Given the description of an element on the screen output the (x, y) to click on. 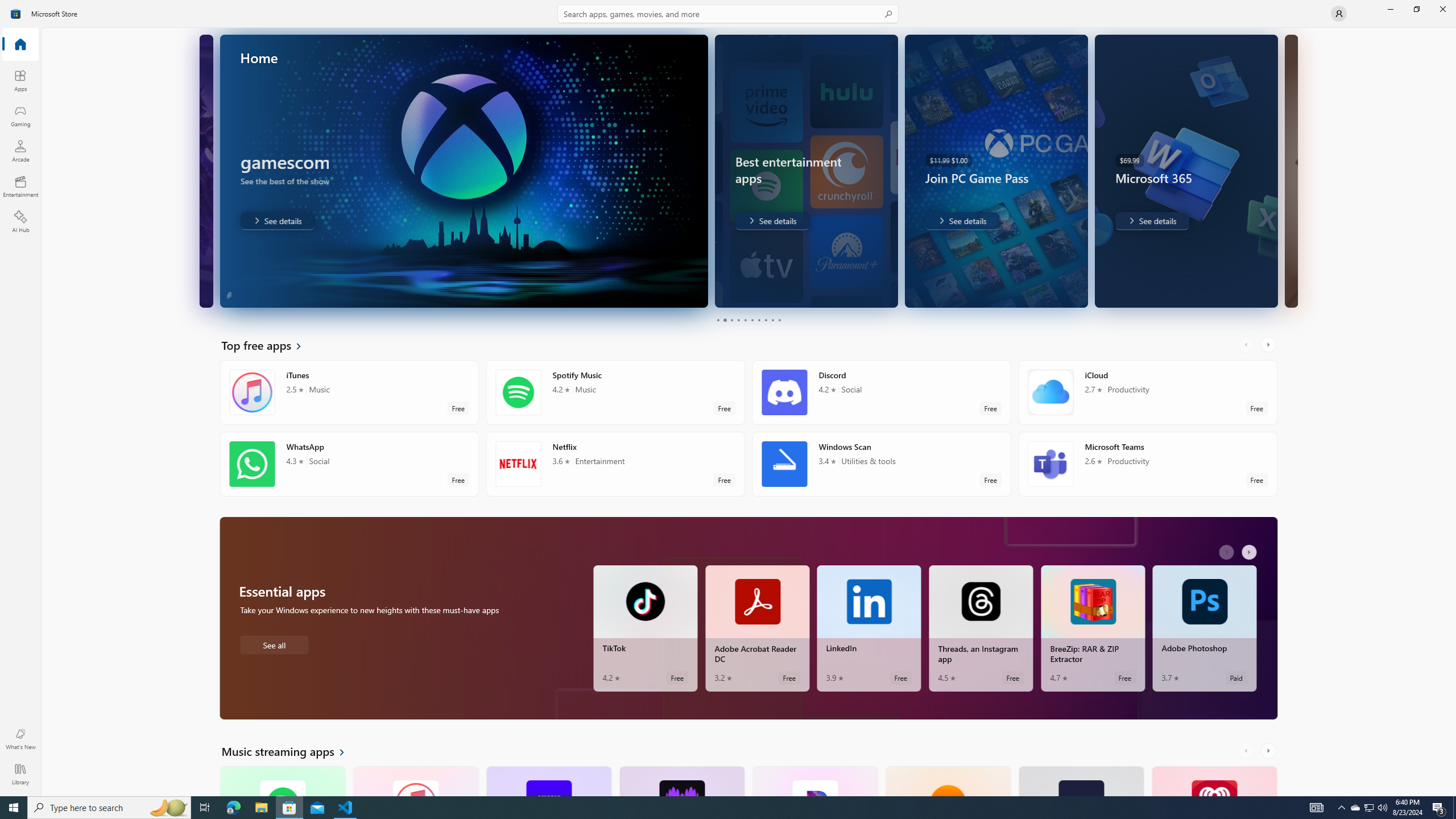
LinkedIn. Average rating of 3.9 out of five stars. Free   (868, 628)
Page 6 (751, 319)
iTunes. Average rating of 2.5 out of five stars. Free   (415, 780)
AutomationID: RightScrollButton (1269, 750)
Arcade (20, 150)
Home (20, 45)
